Given the description of an element on the screen output the (x, y) to click on. 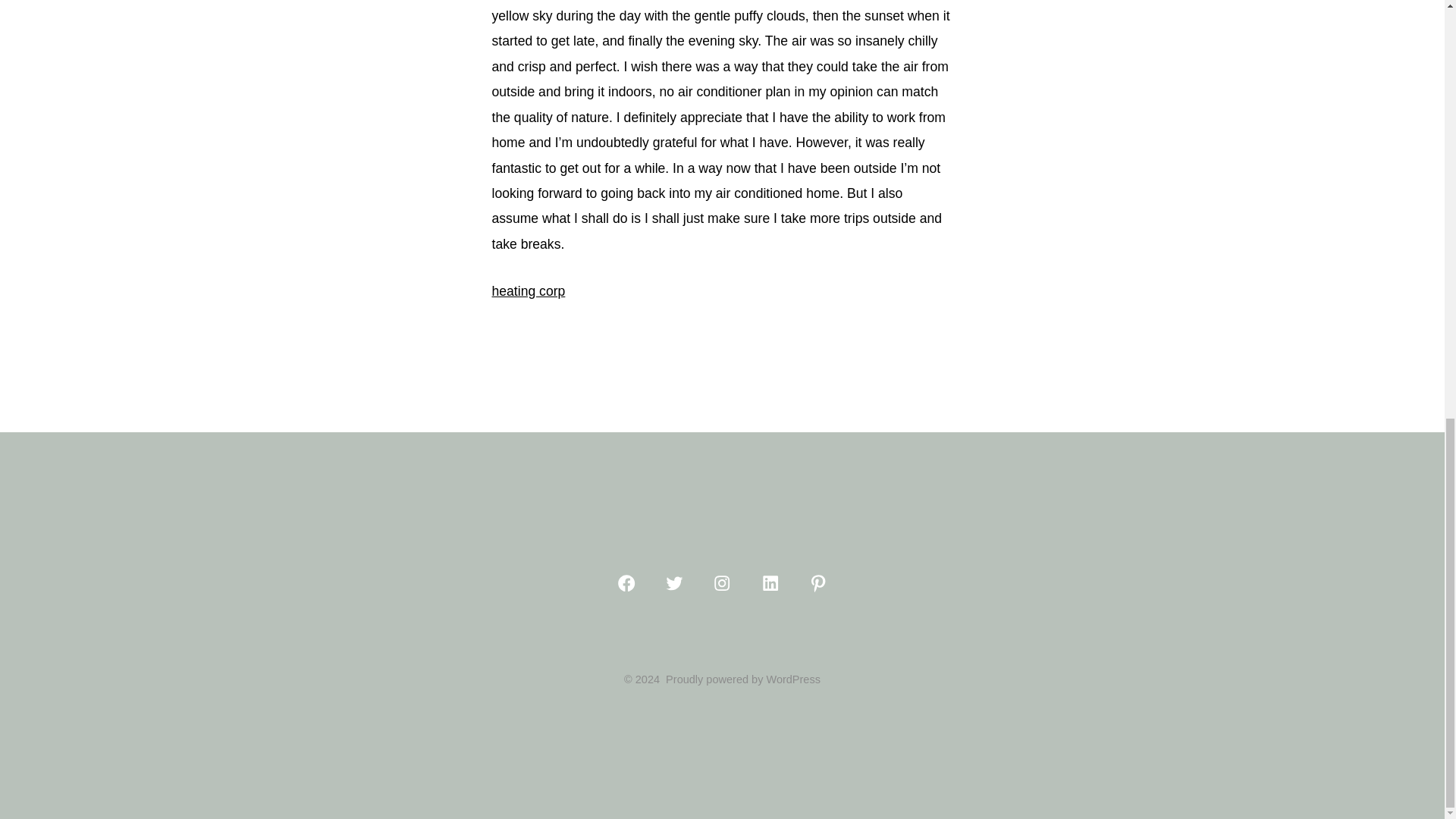
heating corp (528, 290)
Open Twitter in a new tab (673, 583)
Open Instagram in a new tab (722, 583)
Open LinkedIn in a new tab (770, 583)
Open Facebook in a new tab (625, 583)
Open Pinterest in a new tab (818, 583)
